Given the description of an element on the screen output the (x, y) to click on. 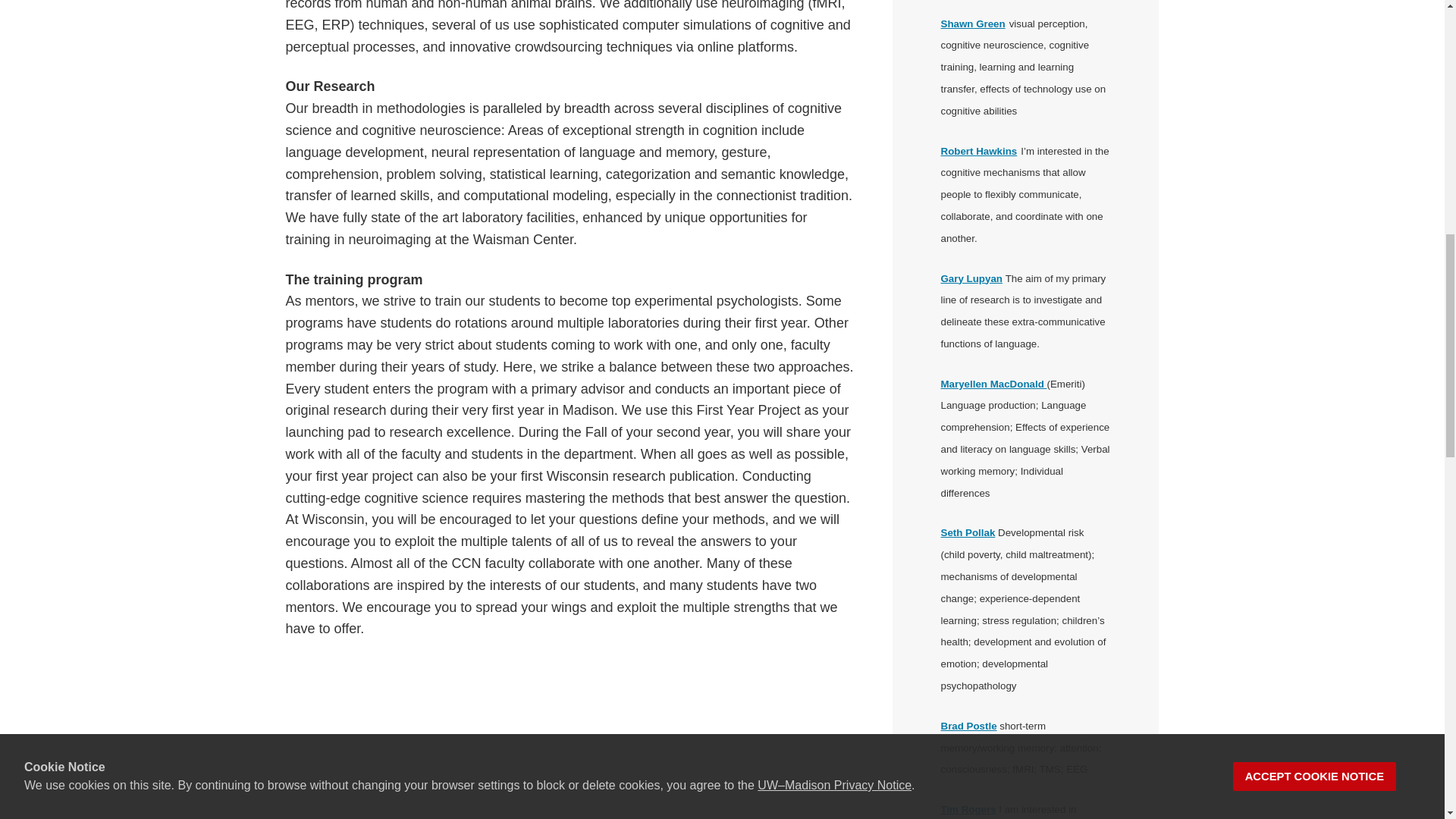
Brad Postle Faculty-Staff Page (967, 726)
Timothy T. Rogers Faculty-Staff Page (967, 808)
Maryellen C. MacDonald Faculty-Staff Page (993, 383)
Gary Lupyan Faculty-Staff Page (970, 278)
Seth Pollak Faculty-Staff Page (967, 532)
C. Shawn Green Faculty-Staff Page (972, 23)
